Given the description of an element on the screen output the (x, y) to click on. 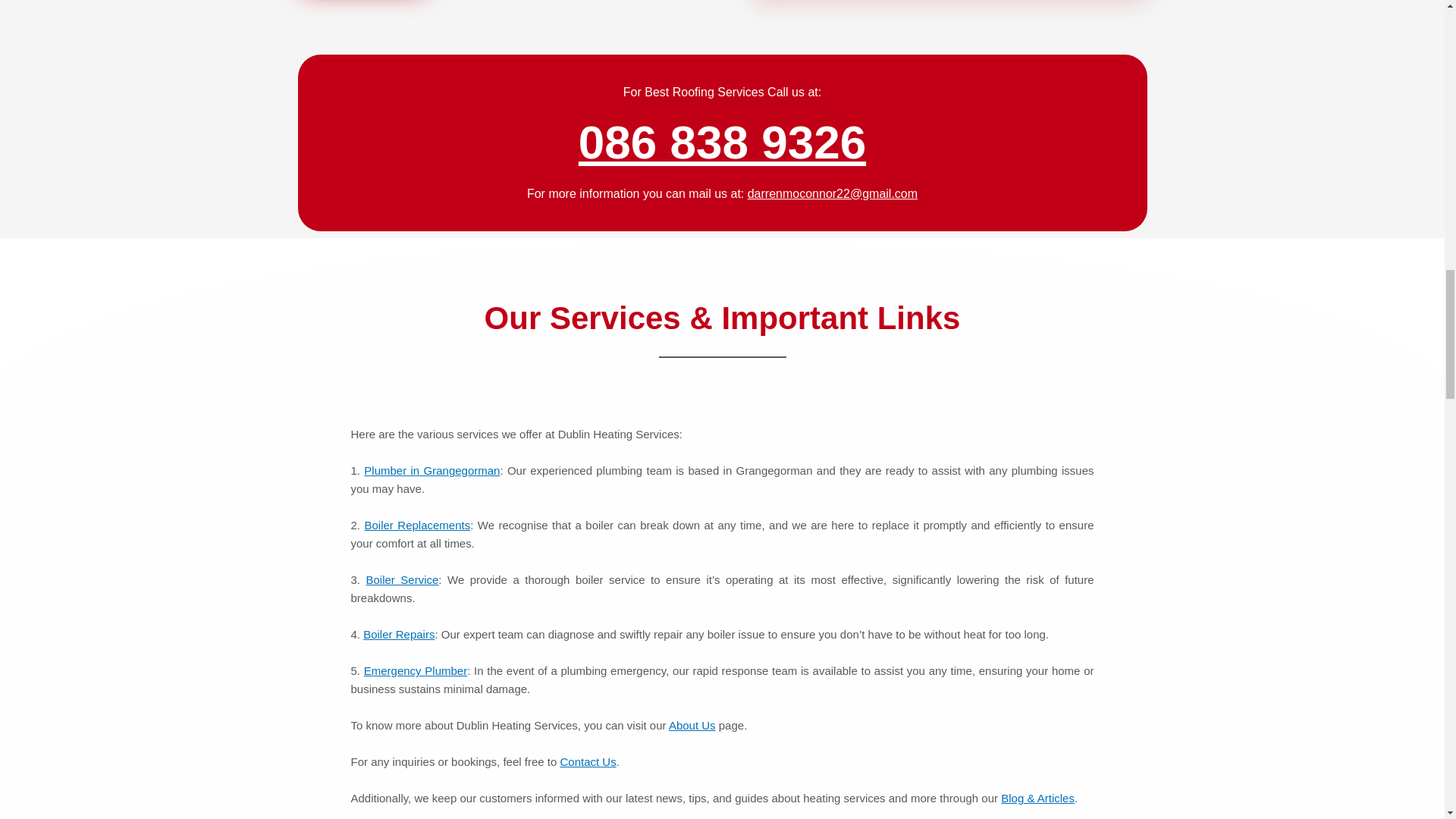
Boiler Service (401, 579)
086 838 9326 (722, 142)
Contact Us (587, 761)
About Us (692, 725)
Boiler Repairs (397, 634)
Emergency Plumber (415, 670)
Boiler Replacements (417, 524)
Plumber in Grangegorman (431, 470)
